Given the description of an element on the screen output the (x, y) to click on. 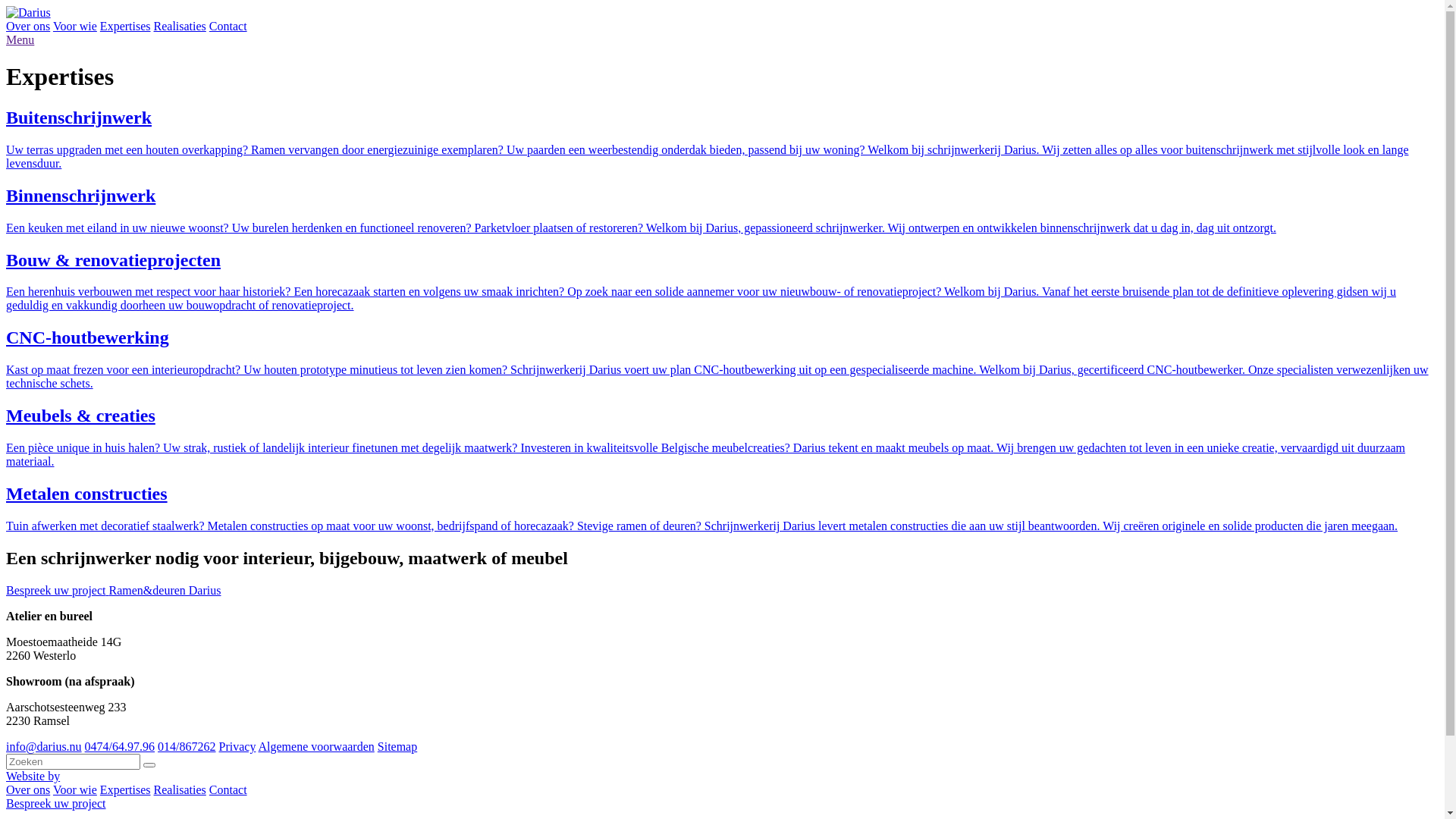
Expertises Element type: text (125, 25)
Sitemap Element type: text (397, 746)
Darius Element type: hover (28, 12)
Voor wie Element type: text (75, 789)
Over ons Element type: text (28, 25)
Bespreek uw project Element type: text (56, 803)
Menu Element type: text (20, 39)
Realisaties Element type: text (179, 789)
Over ons Element type: text (28, 789)
Voor wie Element type: text (75, 25)
014/867262 Element type: text (186, 746)
Contact Element type: text (228, 789)
Realisaties Element type: text (179, 25)
info@darius.nu Element type: text (43, 746)
0474/64.97.96 Element type: text (119, 746)
Algemene voorwaarden Element type: text (316, 746)
Ramen&deuren Darius Element type: text (165, 589)
Contact Element type: text (228, 25)
Privacy Element type: text (237, 746)
Expertises Element type: text (125, 789)
Website by Element type: text (32, 775)
Bespreek uw project Element type: text (57, 589)
